Given the description of an element on the screen output the (x, y) to click on. 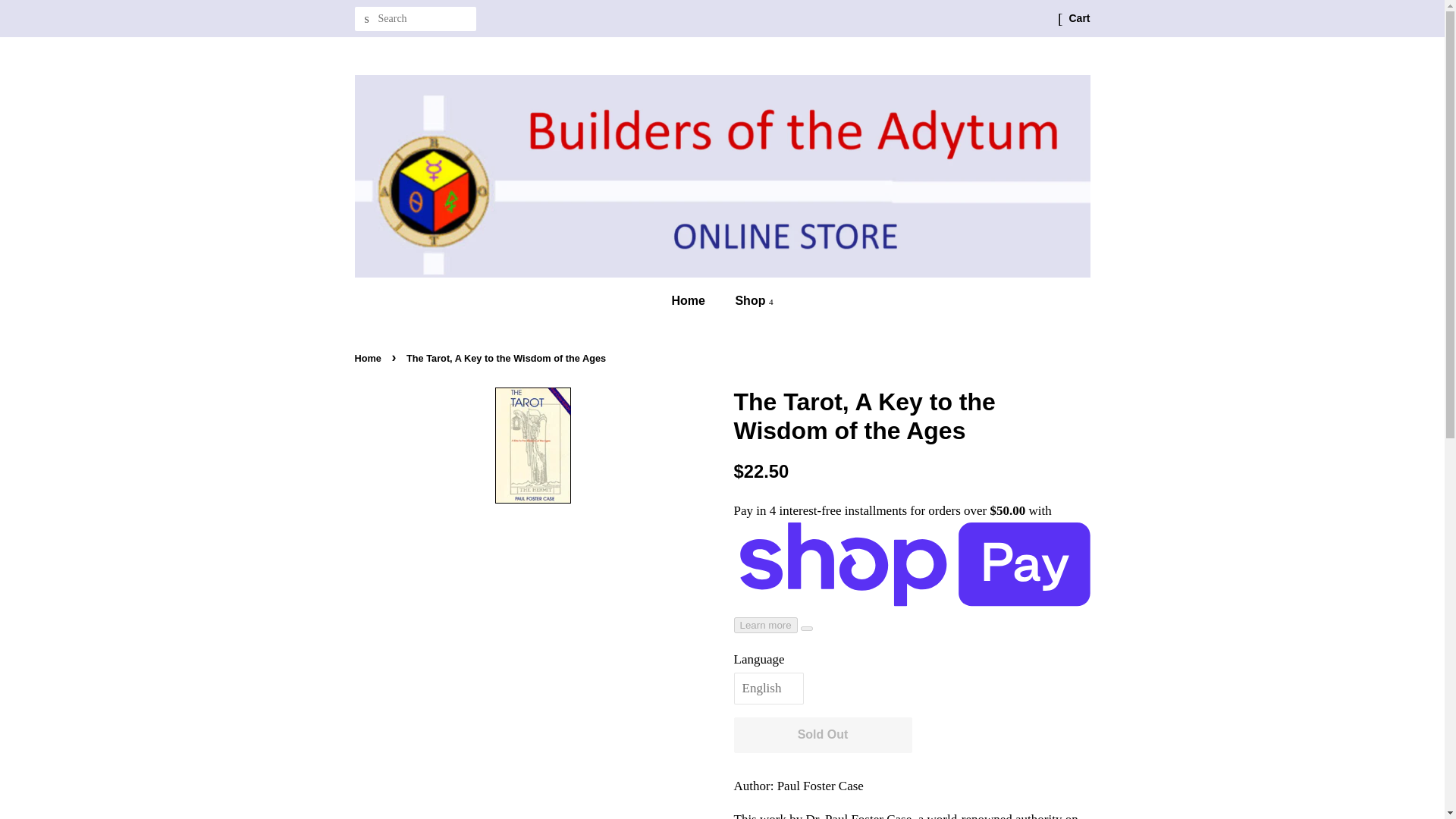
Search (366, 18)
Home (695, 300)
Home (370, 357)
Back to the frontpage (370, 357)
Sold Out (822, 734)
Cart (1078, 18)
Shop (748, 300)
